Given the description of an element on the screen output the (x, y) to click on. 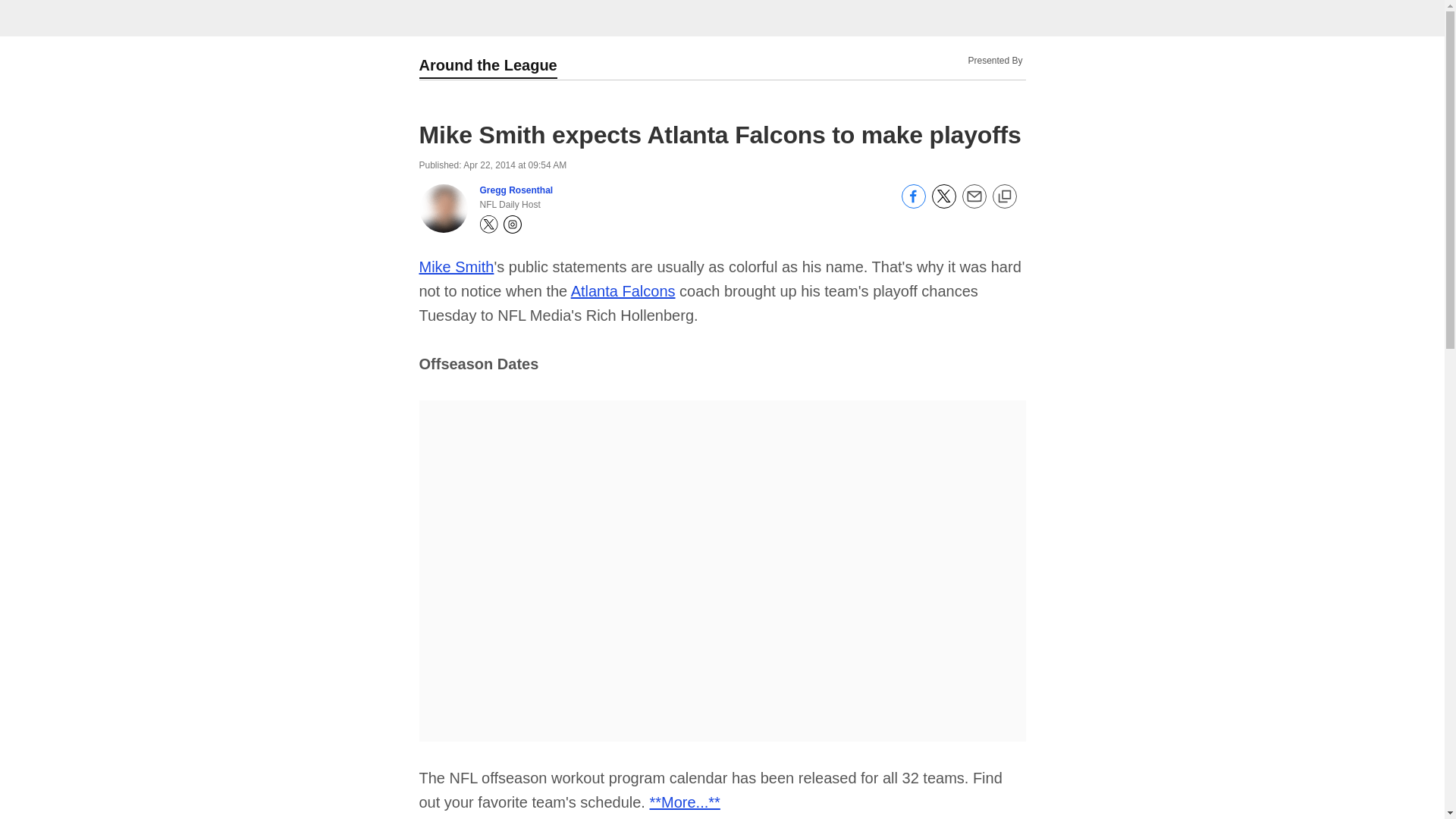
Atlanta Falcons (622, 290)
Share on Facebook (912, 204)
Mike Smith (456, 266)
Gregg Rosenthal (516, 190)
Copy link (1003, 196)
Send email (972, 204)
Share on Twitter (943, 204)
